Given the description of an element on the screen output the (x, y) to click on. 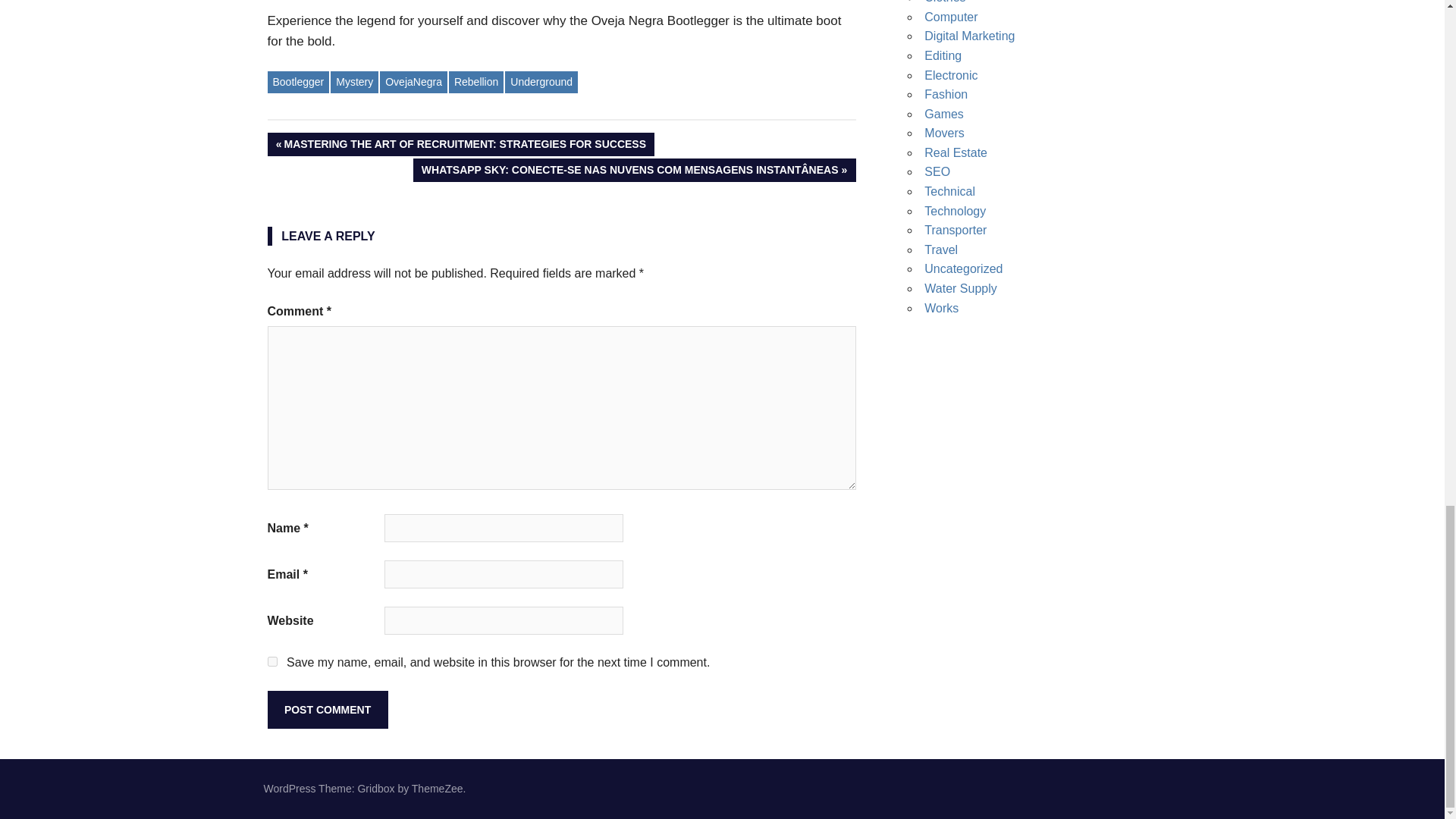
Post Comment (326, 709)
Mystery (354, 82)
Rebellion (475, 82)
OvejaNegra (413, 82)
Post Comment (326, 709)
yes (271, 661)
Underground (541, 82)
Bootlegger (297, 82)
